Given the description of an element on the screen output the (x, y) to click on. 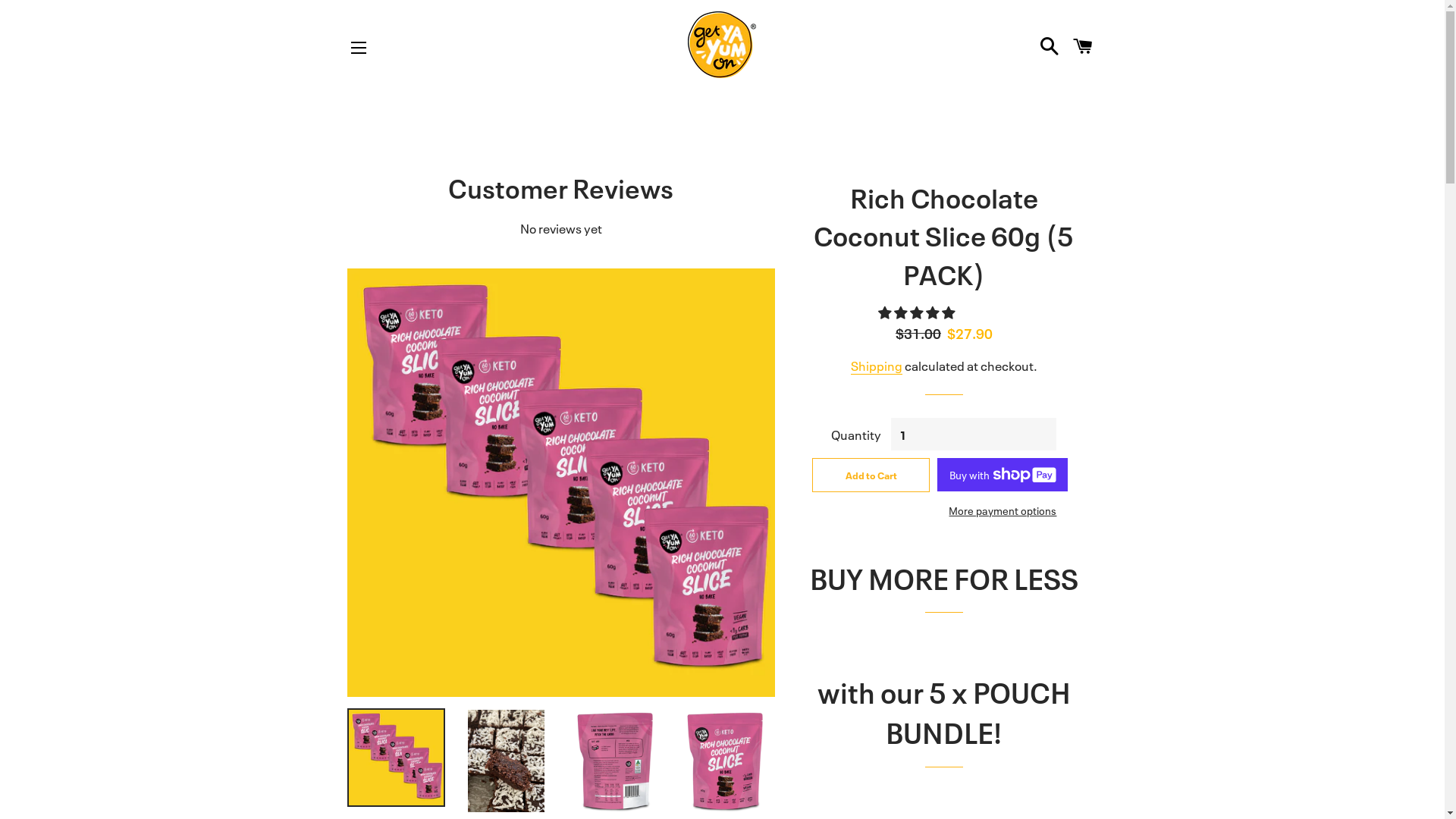
Site navigation Element type: text (358, 47)
Add to Cart Element type: text (870, 474)
Cart Element type: text (1081, 44)
Shipping Element type: text (876, 365)
Write a review Element type: text (722, 10)
Search Element type: text (1048, 44)
More payment options Element type: text (1002, 510)
